Given the description of an element on the screen output the (x, y) to click on. 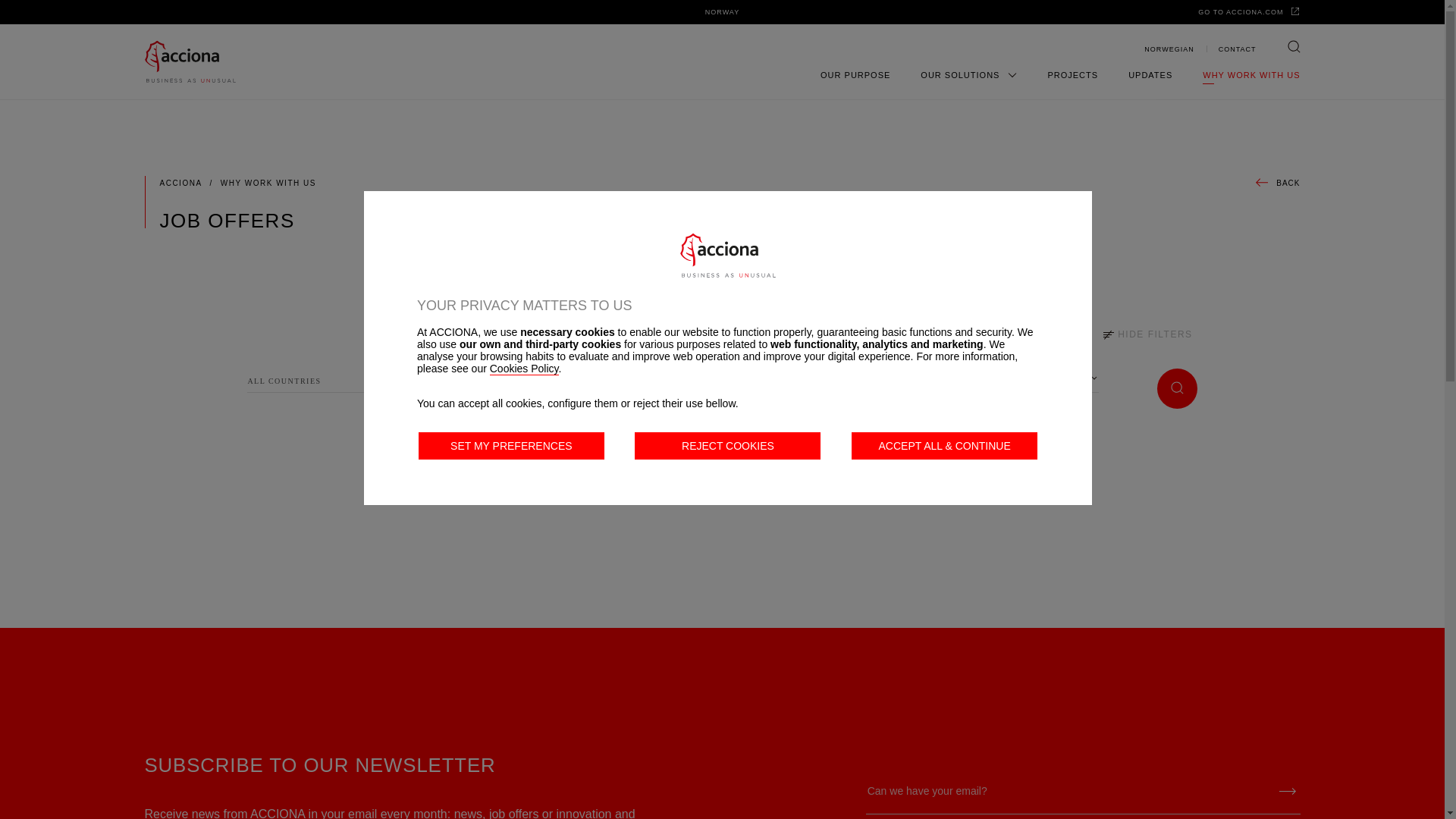
Cookies Policy (524, 368)
SET MY PREFERENCES (511, 445)
Logo Acciona (727, 254)
REJECT COOKIES (727, 445)
